Given the description of an element on the screen output the (x, y) to click on. 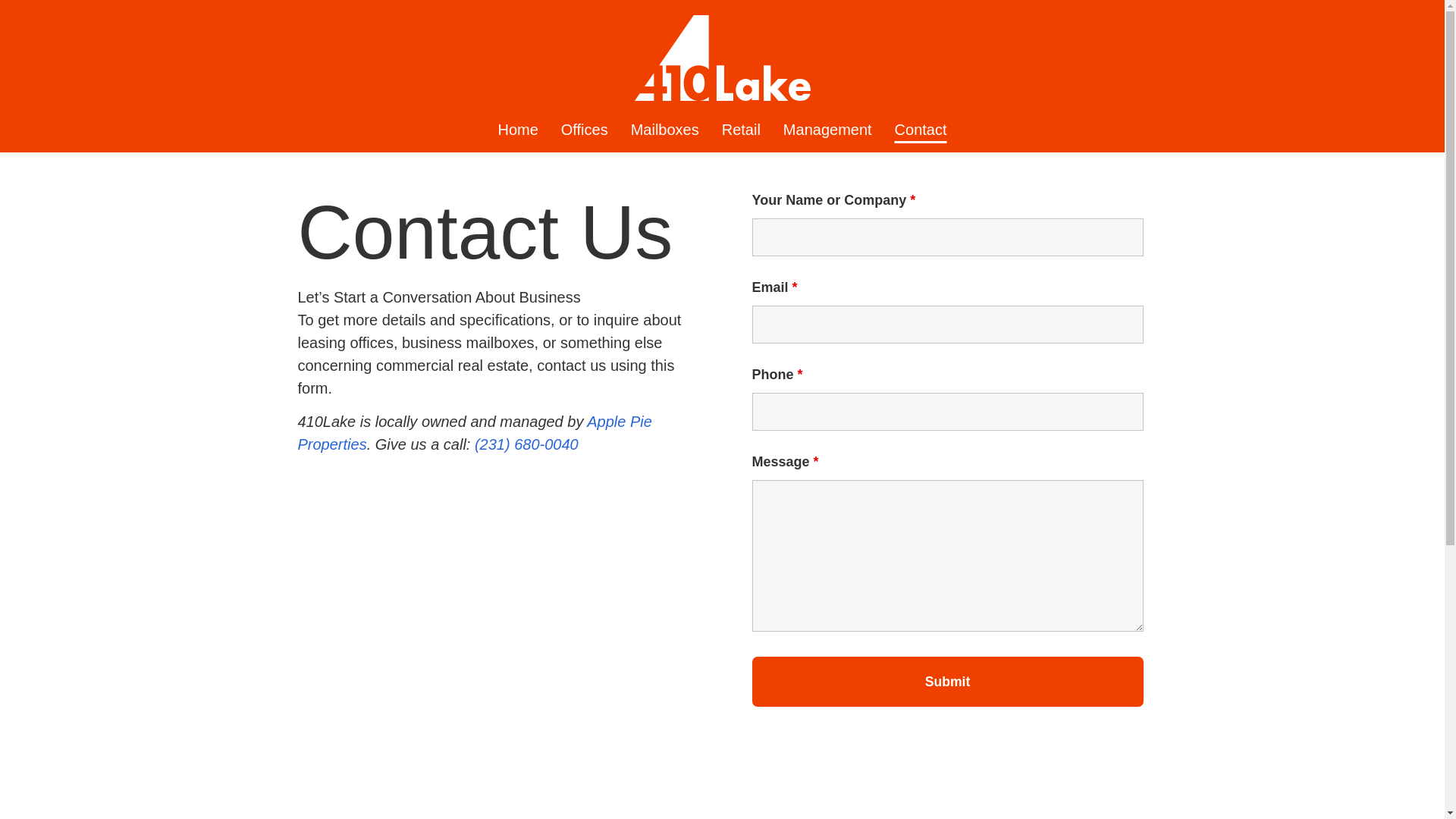
Retail Element type: text (740, 129)
Contact Element type: text (920, 129)
Offices Element type: text (584, 129)
Mailboxes Element type: text (664, 129)
(231) 680-0040 Element type: text (526, 444)
Home Element type: text (517, 129)
Management Element type: text (827, 129)
Submit Element type: text (947, 681)
Apple Pie Properties Element type: text (474, 432)
